Given the description of an element on the screen output the (x, y) to click on. 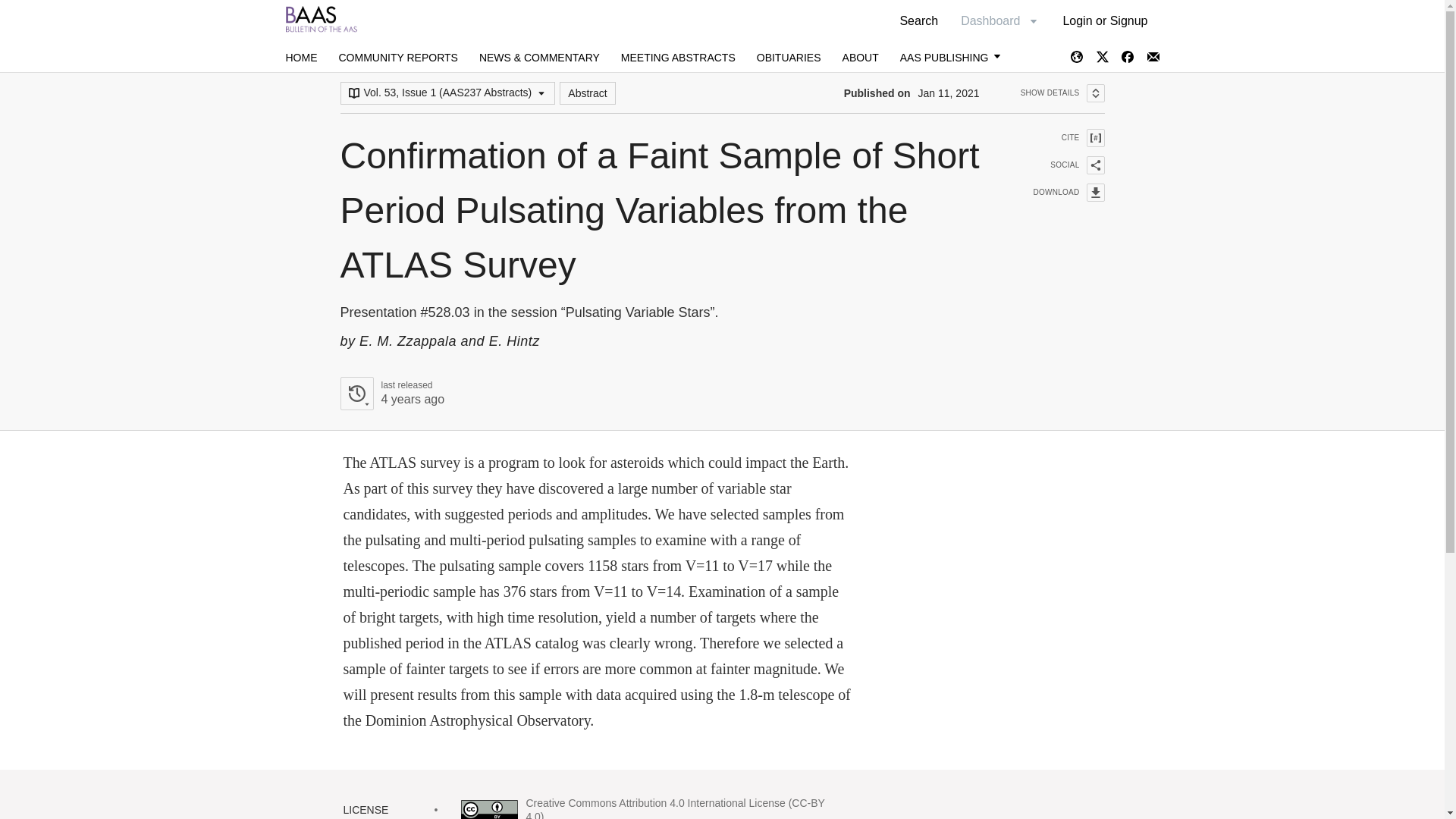
Abstract (391, 393)
SOCIAL (586, 92)
Search (1058, 165)
MEETING ABSTRACTS (918, 20)
OBITUARIES (678, 57)
SHOW DETAILS (789, 57)
CITE (1062, 93)
COMMUNITY REPORTS (1058, 137)
Login or Signup (397, 57)
